Given the description of an element on the screen output the (x, y) to click on. 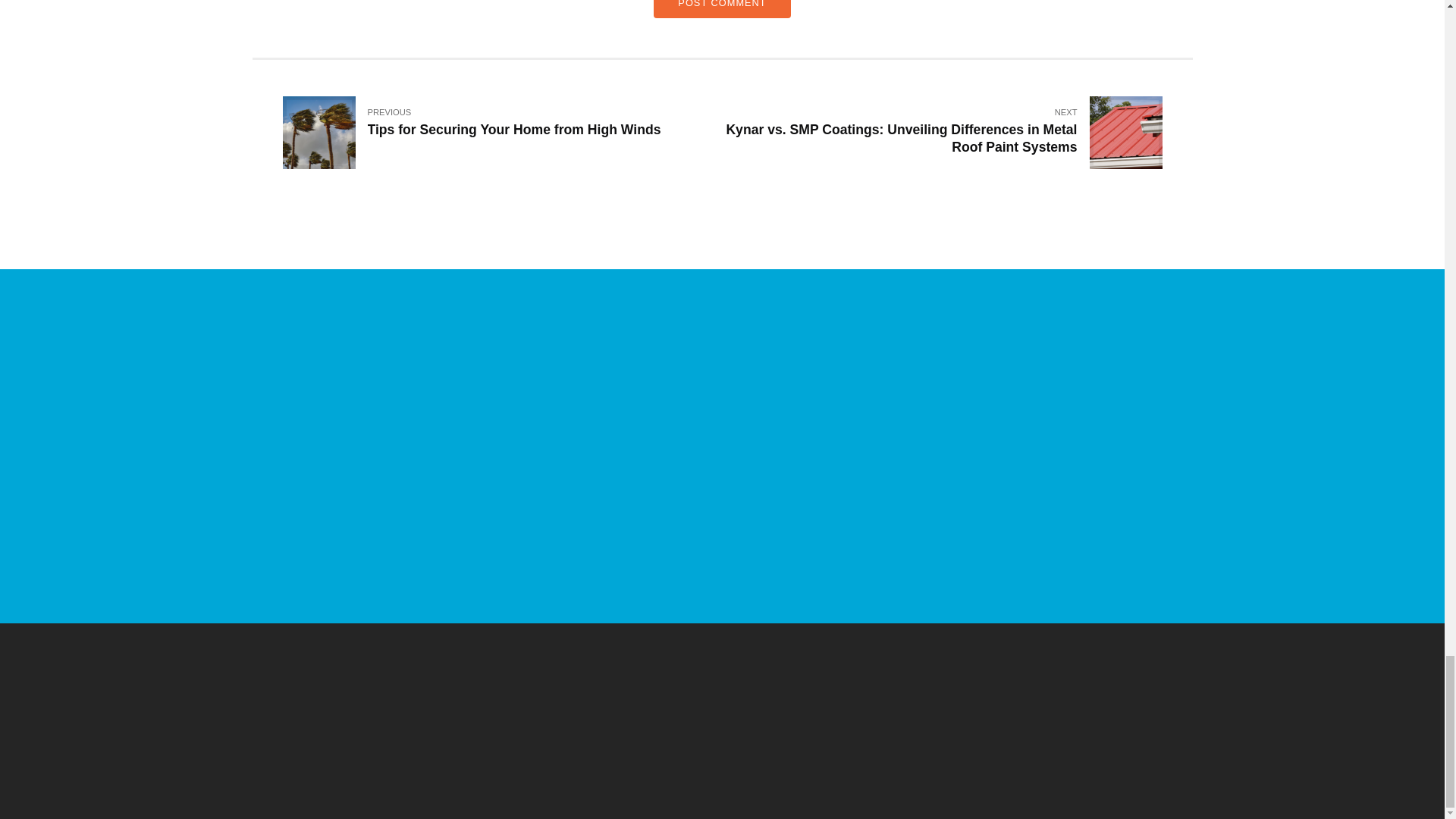
POST COMMENT (502, 133)
